Given the description of an element on the screen output the (x, y) to click on. 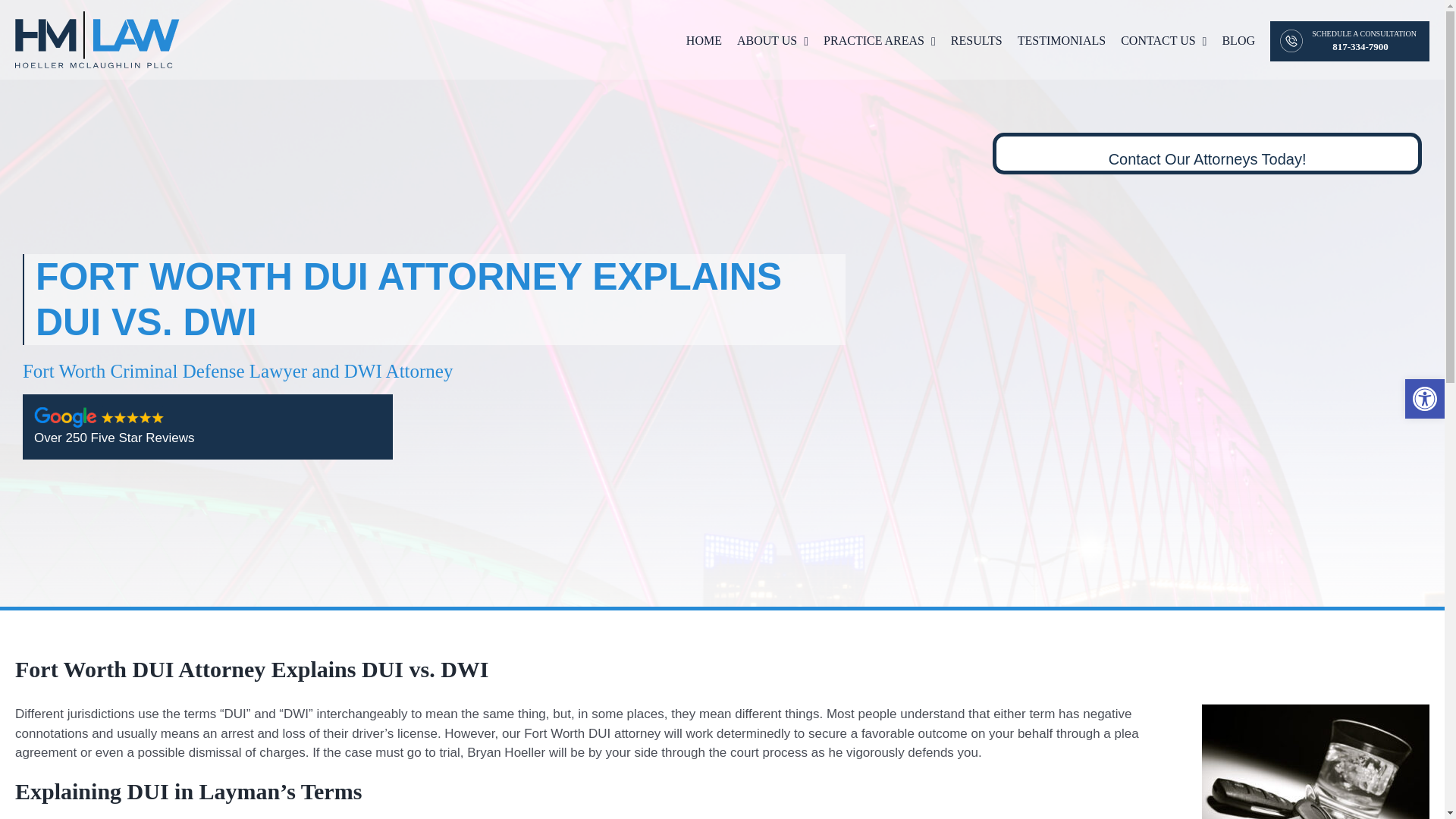
HOME (703, 39)
Accessibility Tools (1424, 398)
ABOUT US (772, 39)
PRACTICE AREAS (880, 39)
